Given the description of an element on the screen output the (x, y) to click on. 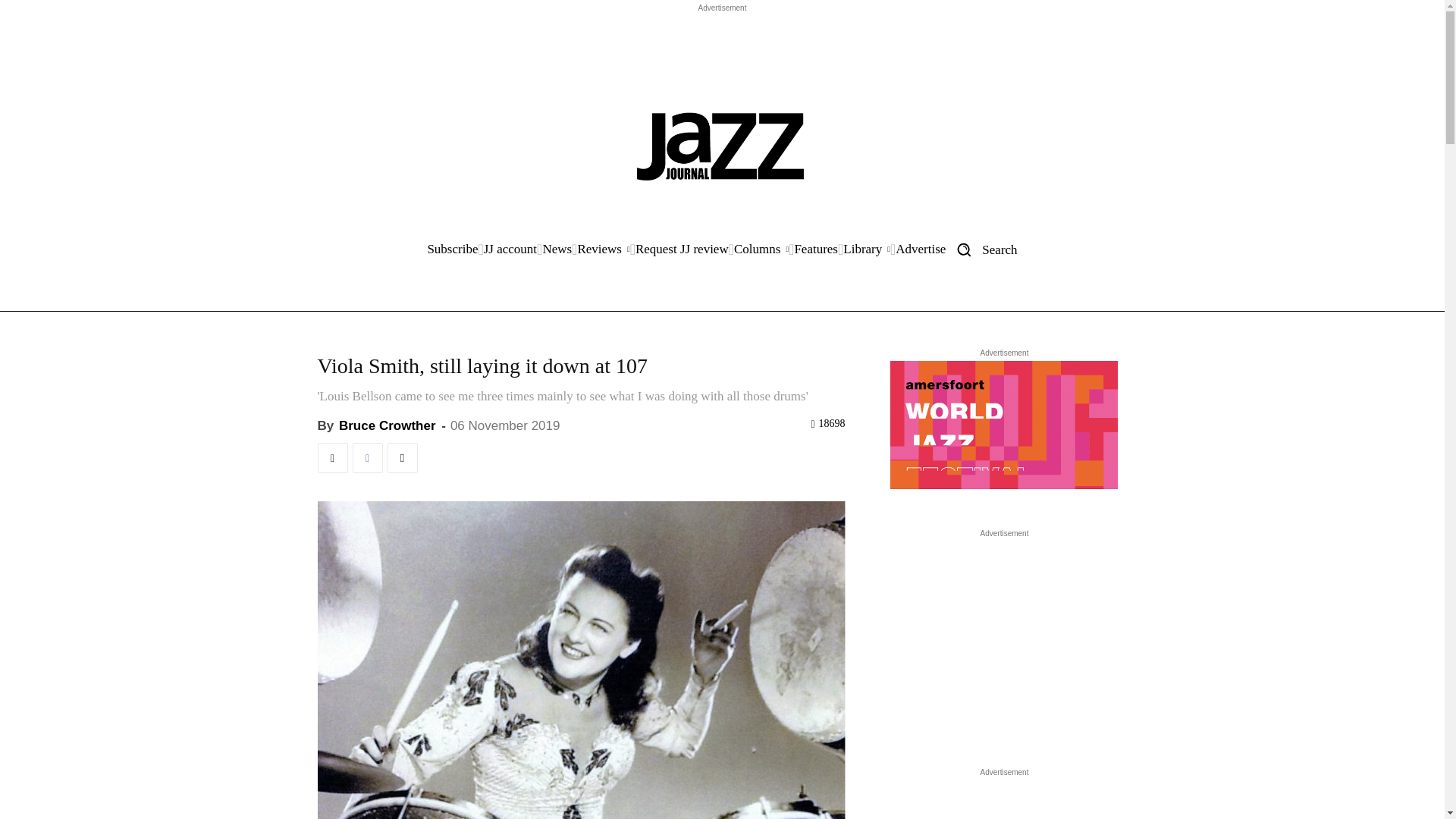
Advertisement (721, 49)
JJ account (510, 248)
Subscribe (451, 248)
Columns (761, 248)
Email (401, 458)
Twitter (332, 458)
Facebook (366, 458)
Reviews (602, 248)
Request JJ review (681, 248)
